Given the description of an element on the screen output the (x, y) to click on. 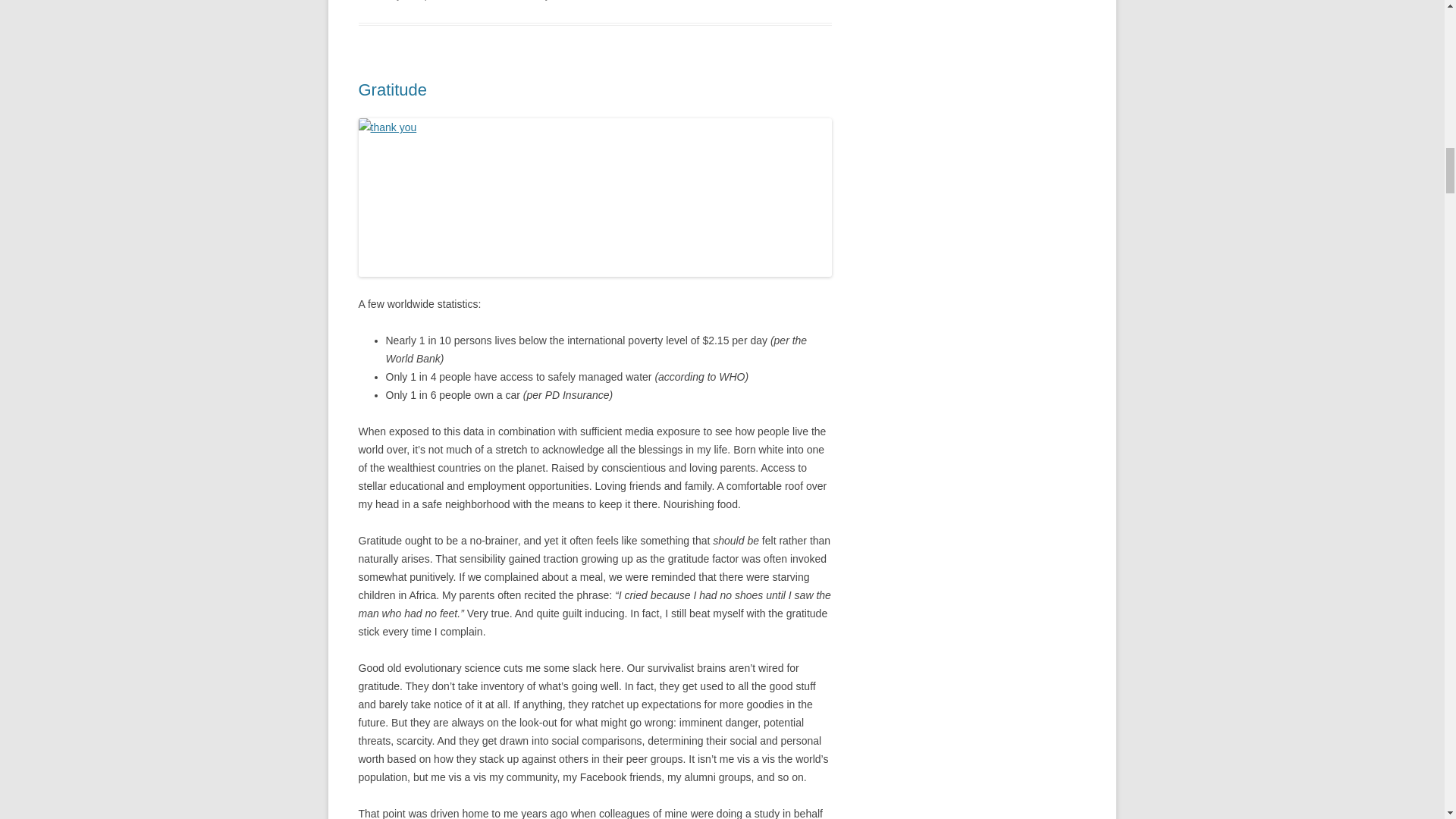
July 17, 2024 (561, 0)
6:00 am (561, 0)
Reflections (491, 0)
Gratitude (392, 89)
